Given the description of an element on the screen output the (x, y) to click on. 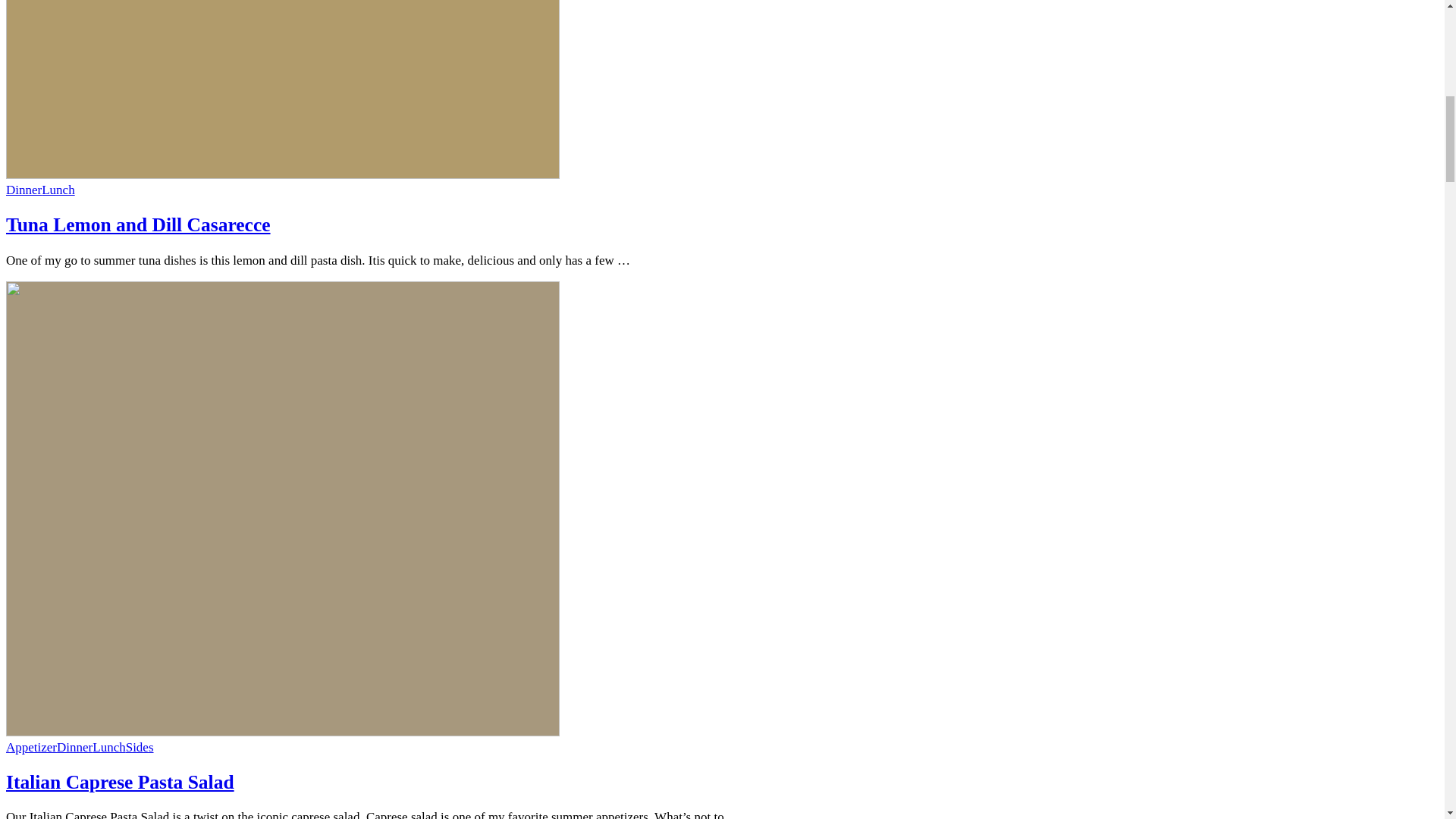
Lunch (109, 747)
Tuna Lemon and Dill Casarecce (137, 224)
Italian Caprese Pasta Salad (119, 782)
Dinner (23, 189)
Sides (139, 747)
Dinner (74, 747)
Lunch (58, 189)
Appetizer (30, 747)
